Given the description of an element on the screen output the (x, y) to click on. 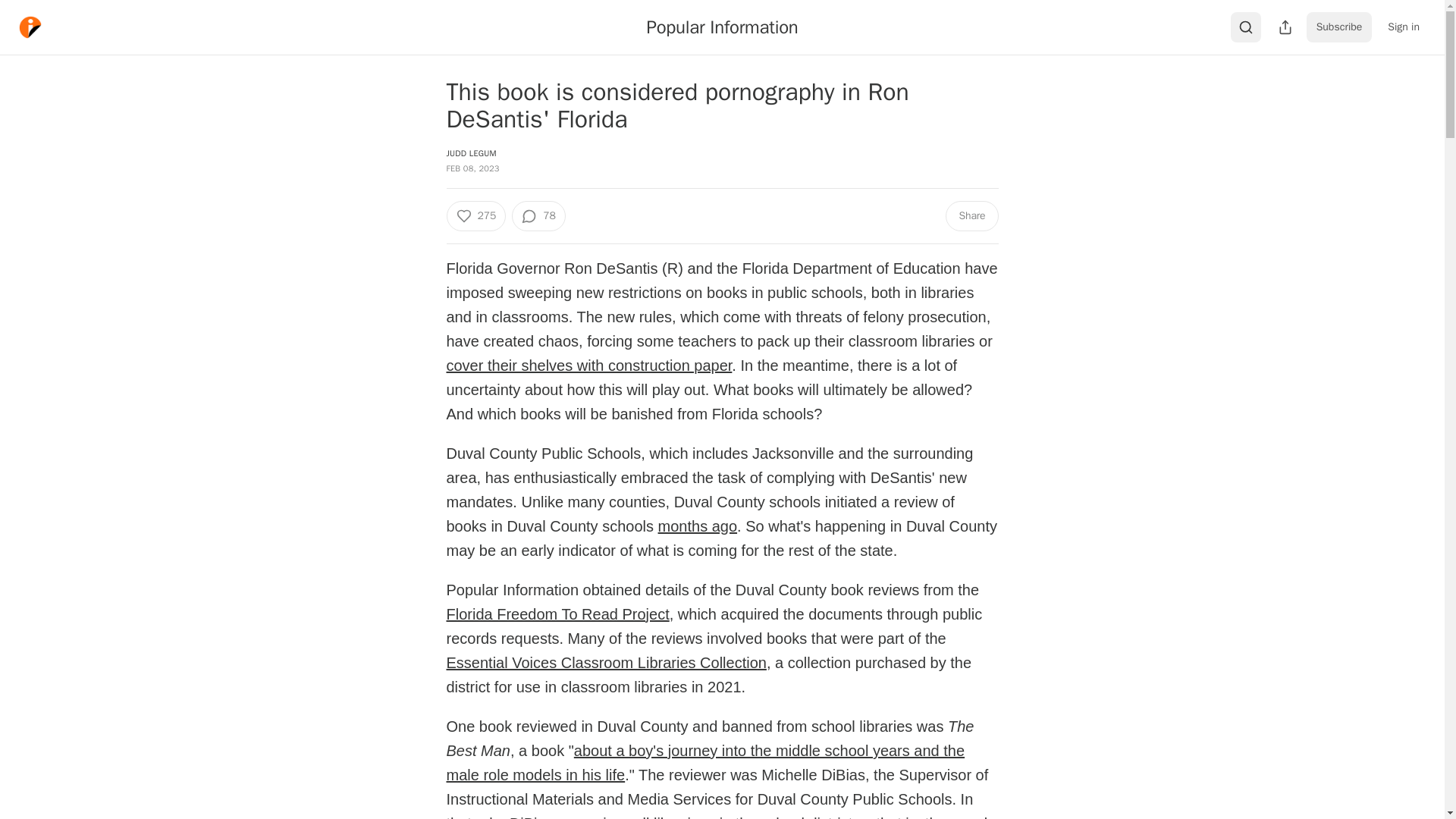
cover their shelves with construction paper (588, 365)
78 (539, 215)
275 (475, 215)
JUDD LEGUM (470, 153)
Popular Information (721, 26)
months ago (698, 525)
Sign in (1403, 27)
Essential Voices Classroom Libraries Collection (605, 662)
Subscribe (1339, 27)
Florida Freedom To Read Project (556, 614)
Share (970, 215)
